Given the description of an element on the screen output the (x, y) to click on. 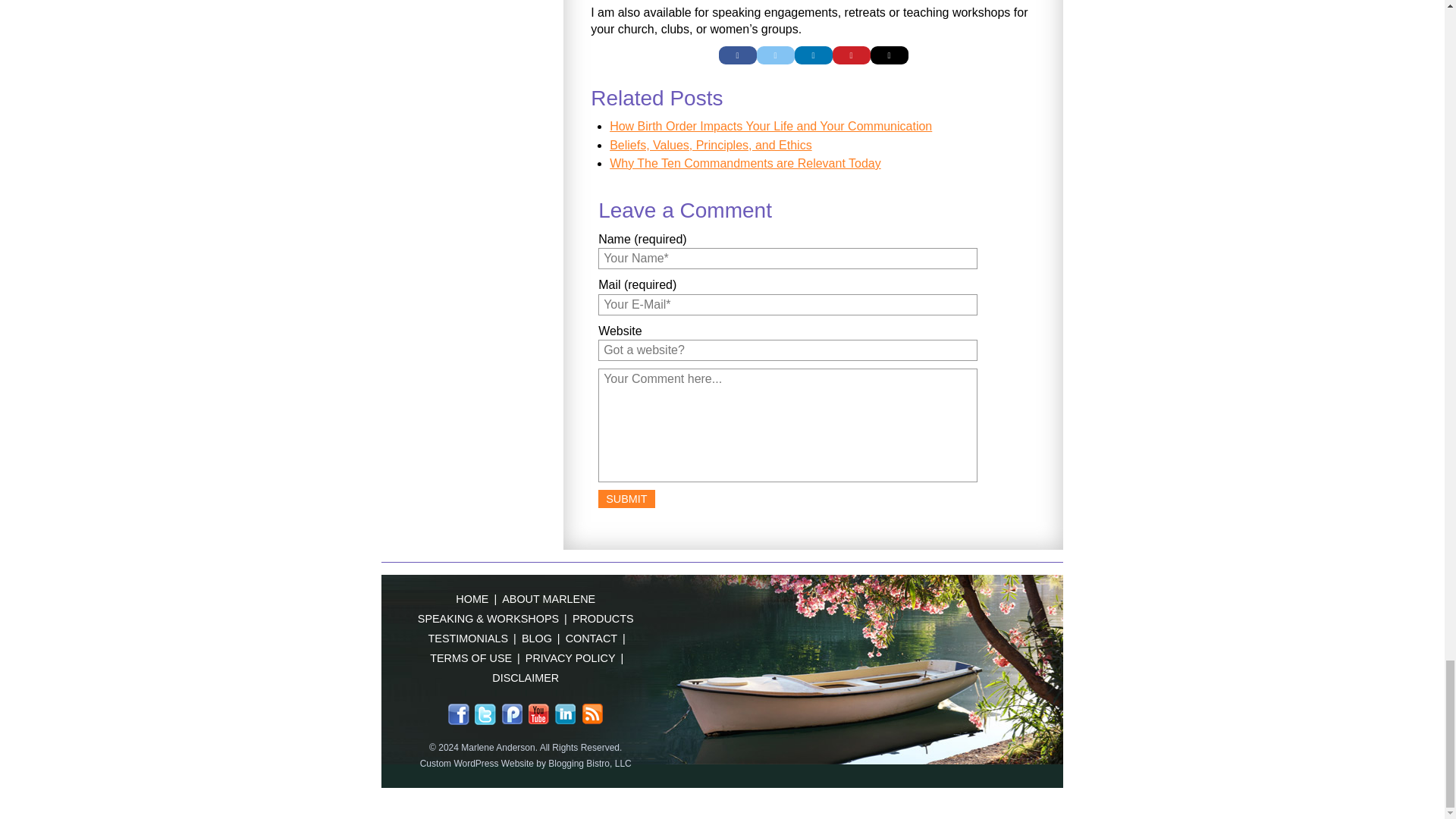
Why The Ten Commandments are Relevant Today (745, 163)
Beliefs, Values, Principles, and Ethics (711, 144)
Submit (625, 498)
How Birth Order Impacts Your Life and Your Communication (770, 125)
Submit (625, 498)
Beliefs, Values, Principles, and Ethics (711, 144)
Why The Ten Commandments are Relevant Today (745, 163)
How Birth Order Impacts Your Life and Your Communication (770, 125)
